Given the description of an element on the screen output the (x, y) to click on. 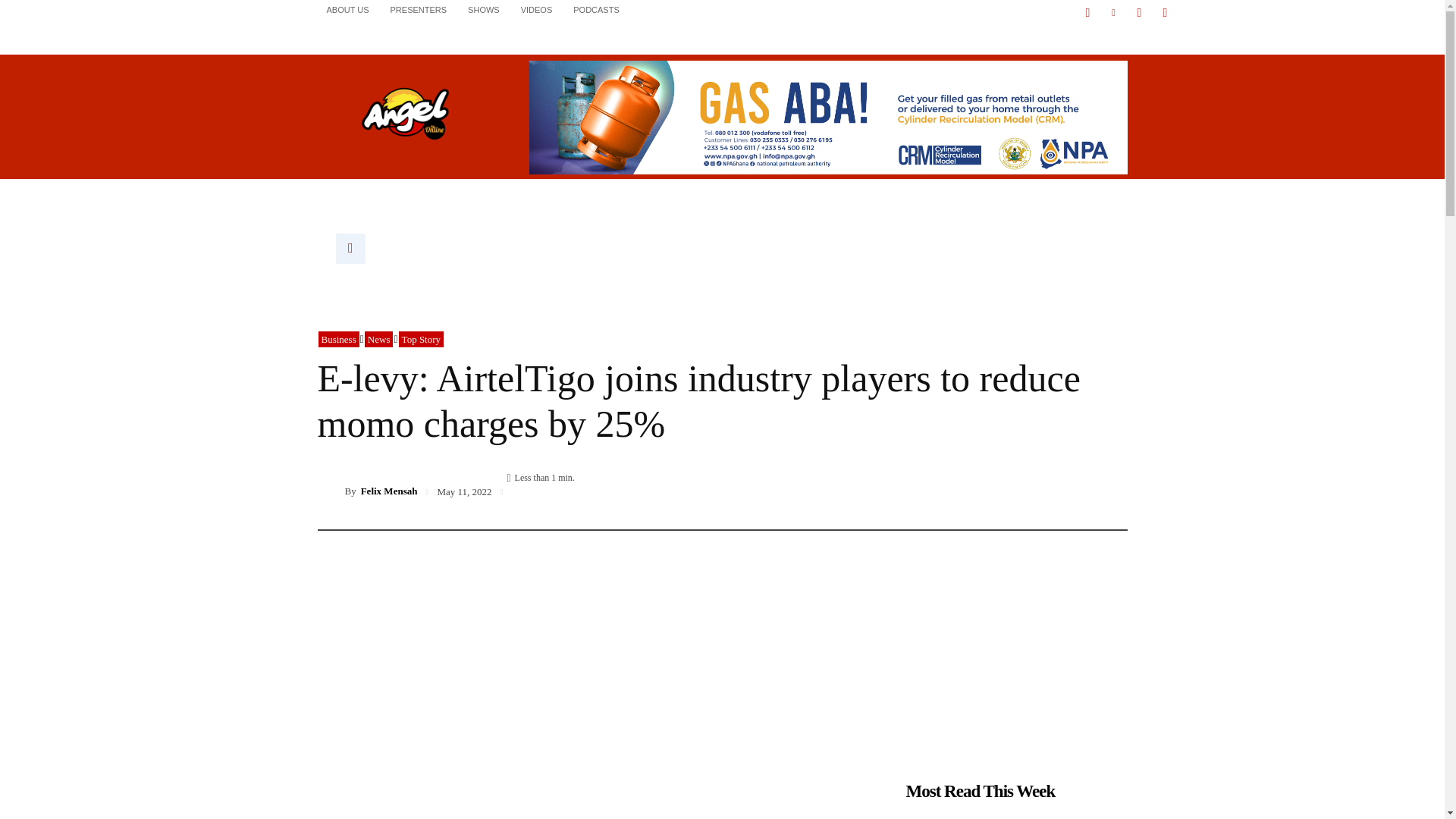
PRESENTERS (419, 9)
Linkedin (1112, 13)
ABOUT US (346, 9)
Facebook (1087, 13)
VIDEOS (537, 9)
PODCASTS (596, 9)
Youtube (1164, 13)
Twitter (1138, 13)
Felix Mensah (330, 490)
SHOWS (484, 9)
